Given the description of an element on the screen output the (x, y) to click on. 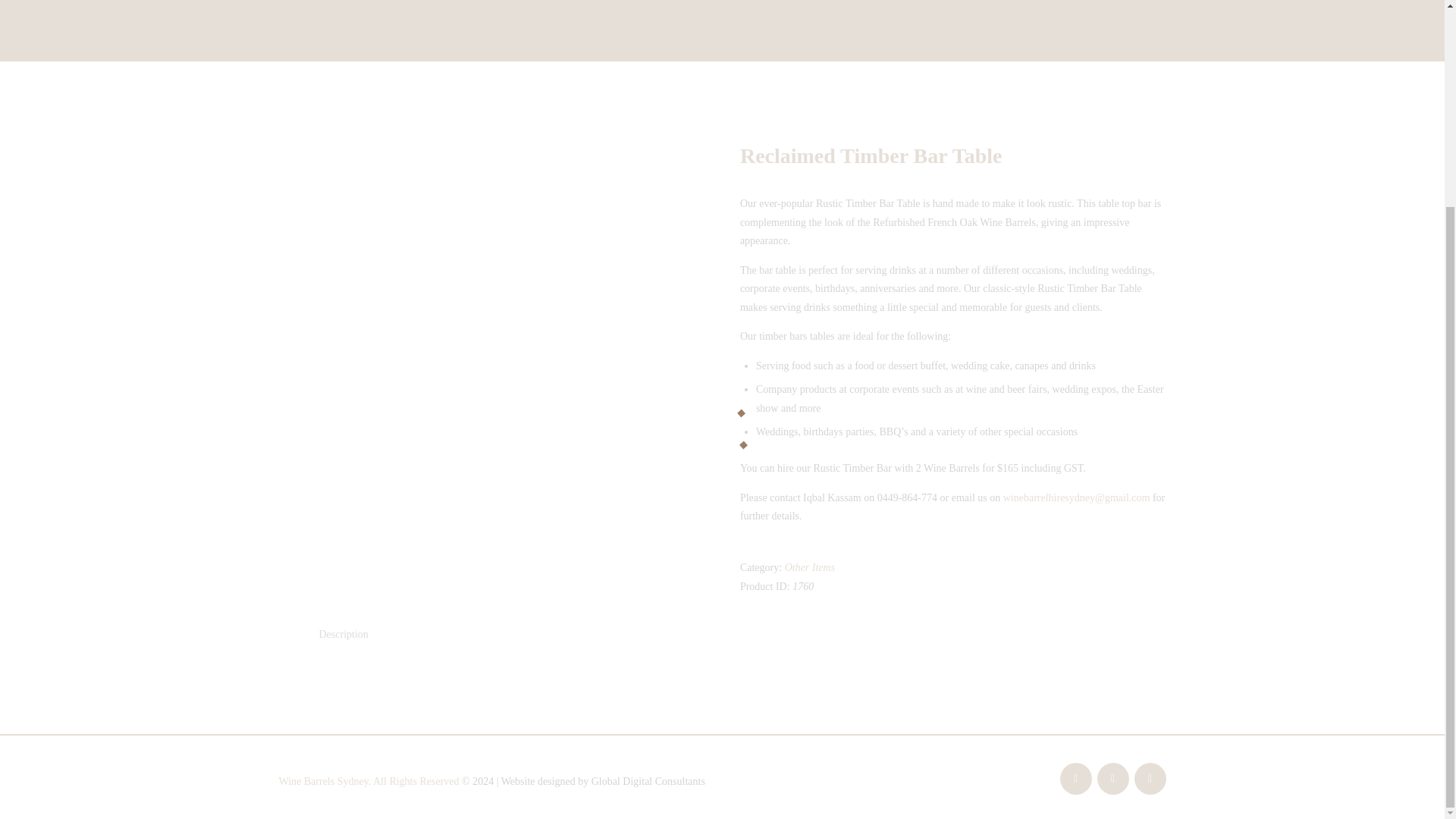
Wine Barrels Sydney. All Rights Reserved (369, 781)
Description (342, 634)
Other Items (809, 567)
